Given the description of an element on the screen output the (x, y) to click on. 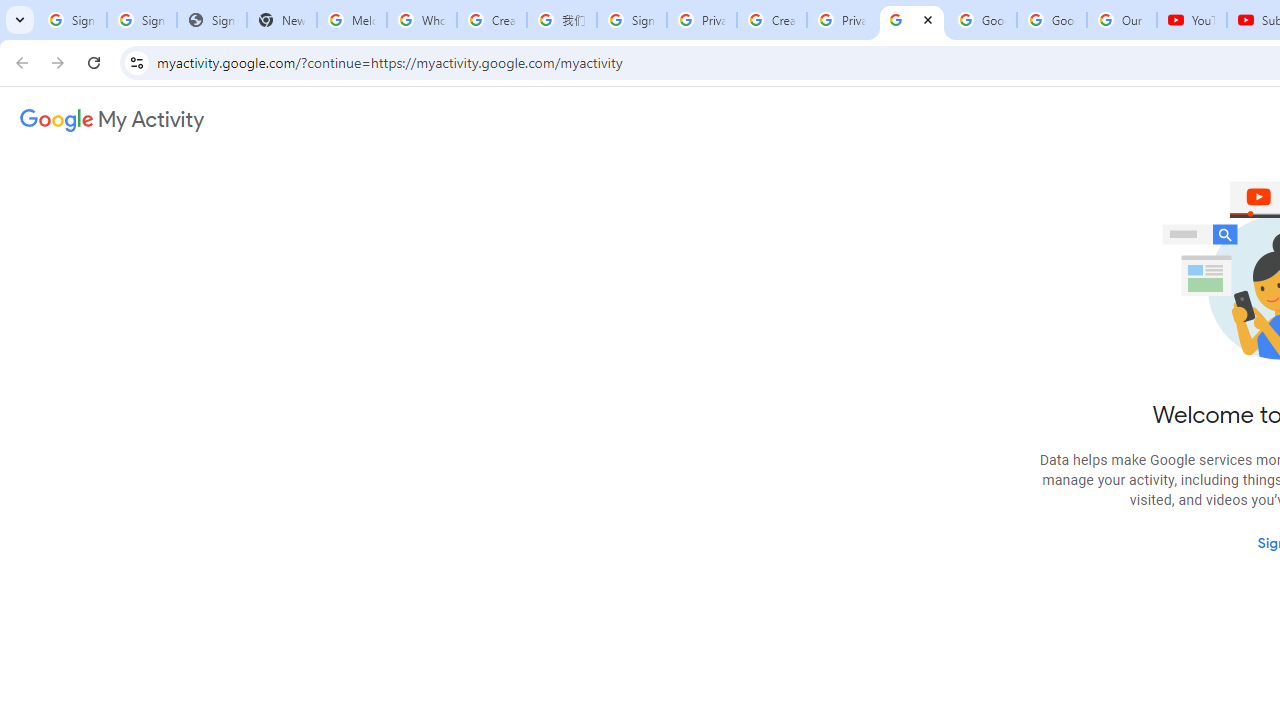
My Activity (112, 120)
Sign in - Google Accounts (141, 20)
